Given the description of an element on the screen output the (x, y) to click on. 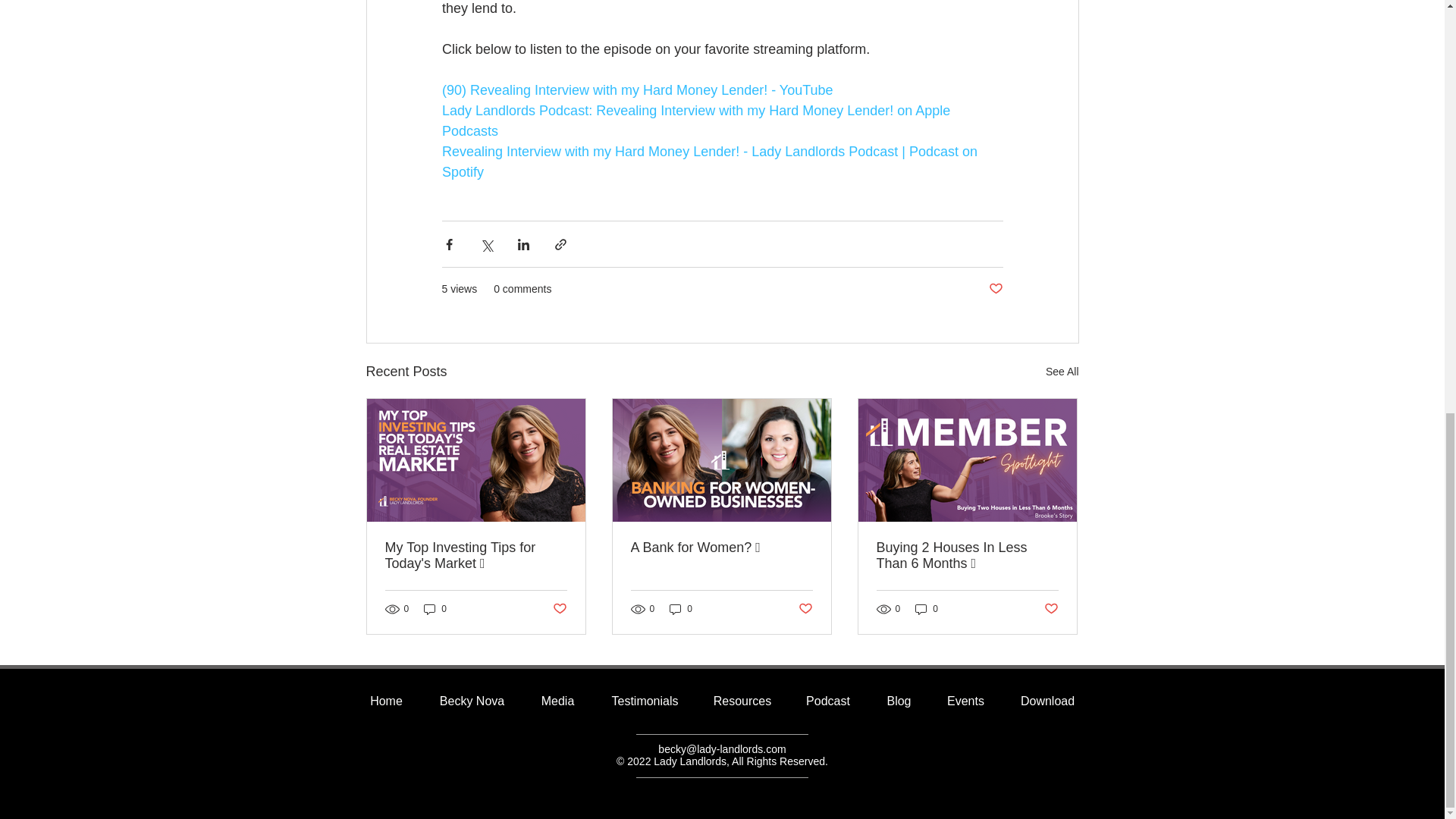
0 (681, 608)
0 (435, 608)
Post not marked as liked (804, 609)
Home (386, 701)
0 (926, 608)
Post not marked as liked (1050, 609)
Post not marked as liked (558, 609)
Post not marked as liked (995, 289)
See All (1061, 372)
